Given the description of an element on the screen output the (x, y) to click on. 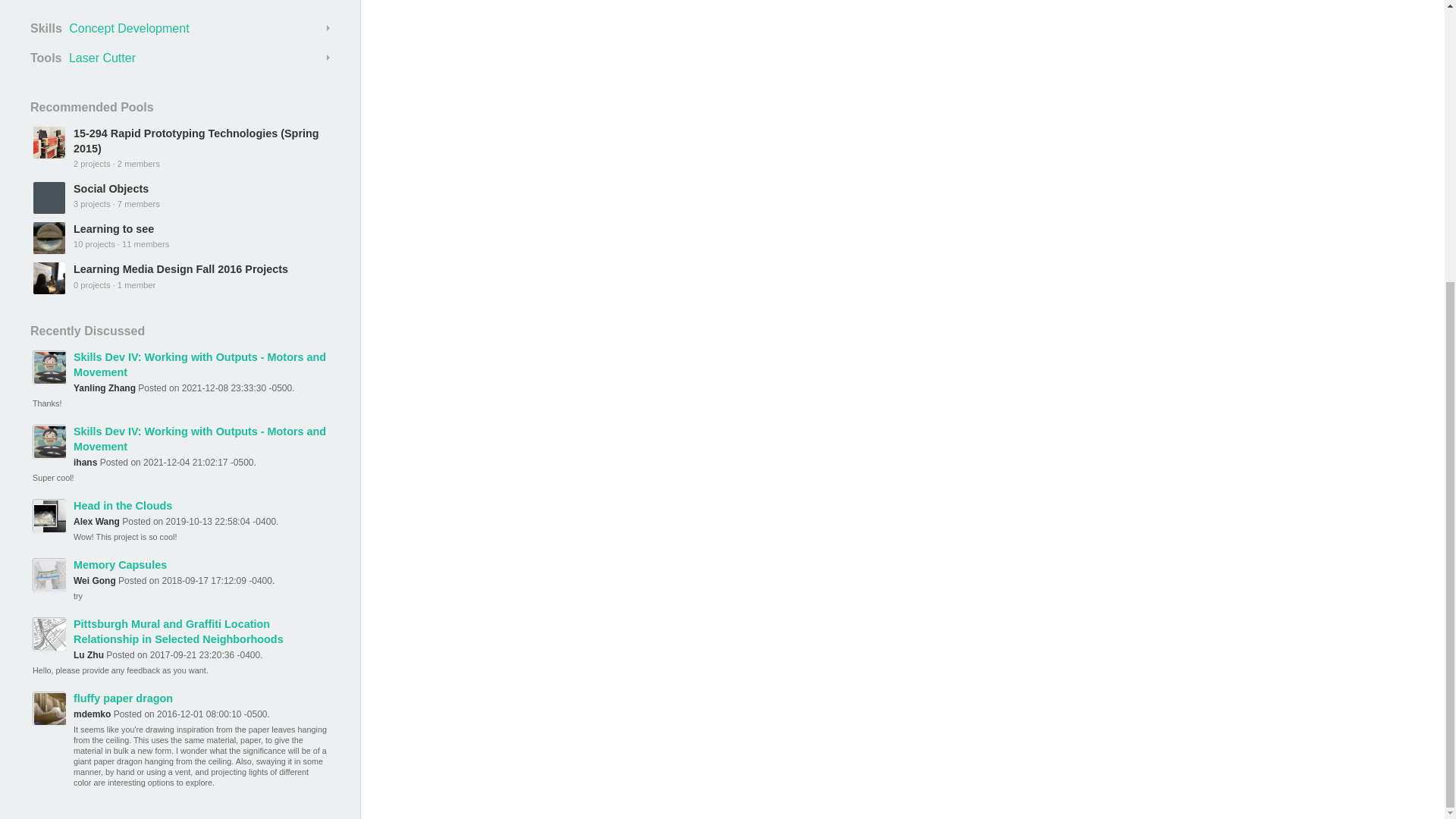
Skills Concept Development (180, 28)
